Given the description of an element on the screen output the (x, y) to click on. 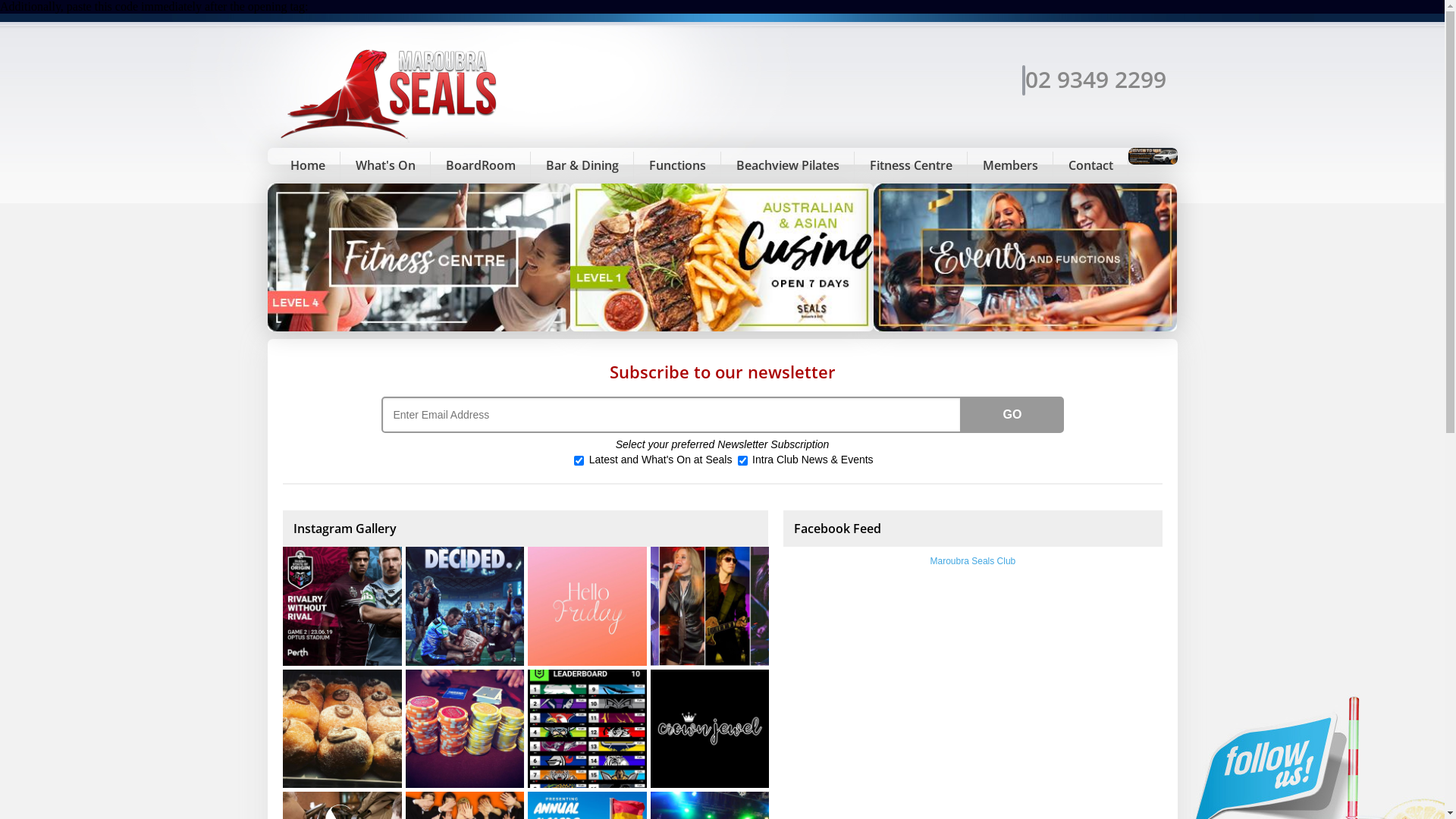
Maroubra Seals Club Ltd Element type: hover (391, 140)
Fitness Centre Element type: text (909, 165)
Bar & Dining Element type: text (581, 165)
Members Element type: text (1010, 165)
BoardRoom Element type: text (480, 165)
Beachview Pilates Element type: text (786, 165)
Maroubra Seals Club Element type: text (973, 560)
Contact Element type: text (1089, 165)
Functions Element type: text (677, 165)
02 9349 2299 Element type: text (1094, 78)
What's On Element type: text (384, 165)
Home Element type: text (306, 165)
GO Element type: text (1012, 414)
